Given the description of an element on the screen output the (x, y) to click on. 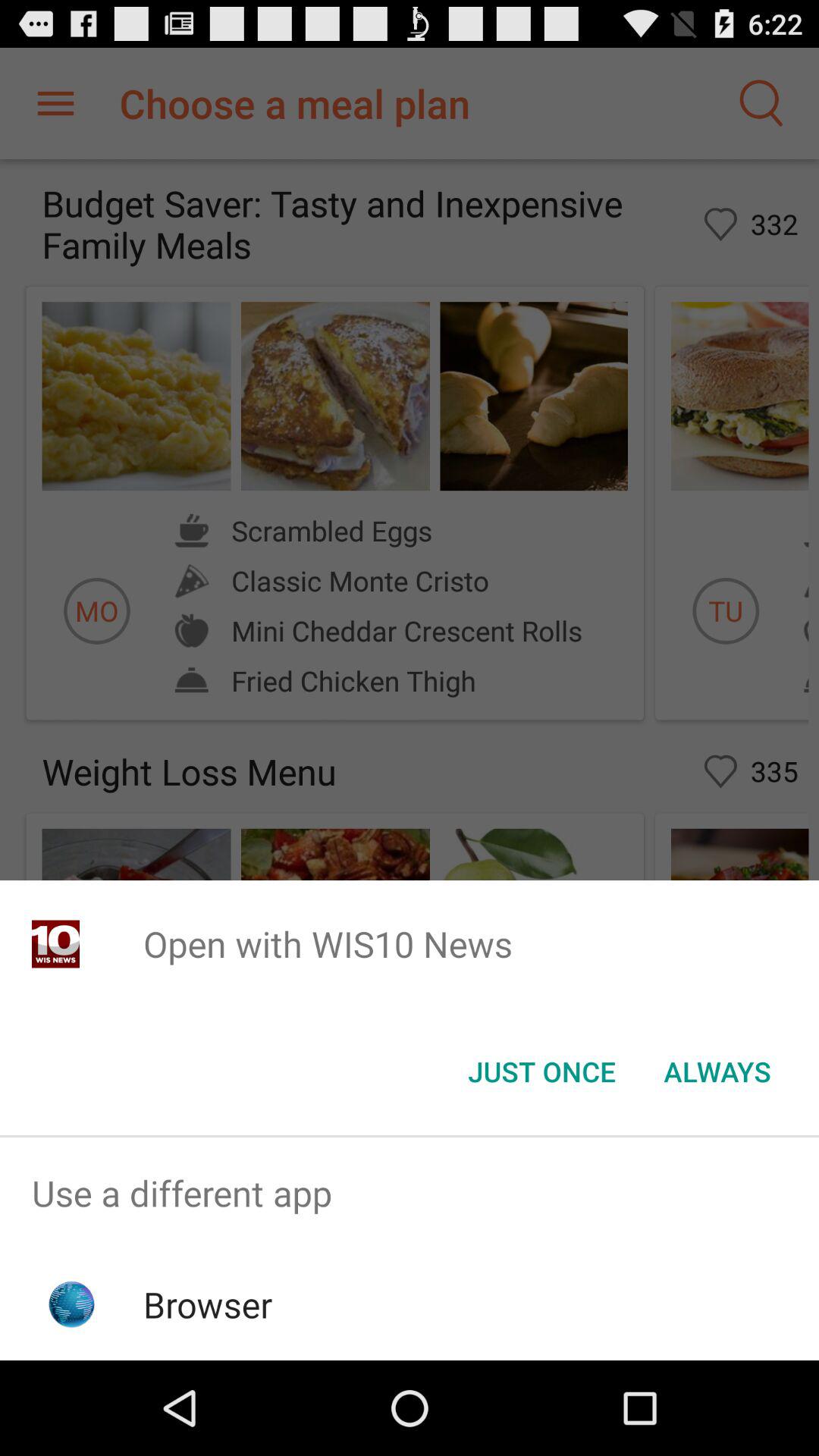
turn on item to the right of just once icon (717, 1071)
